Given the description of an element on the screen output the (x, y) to click on. 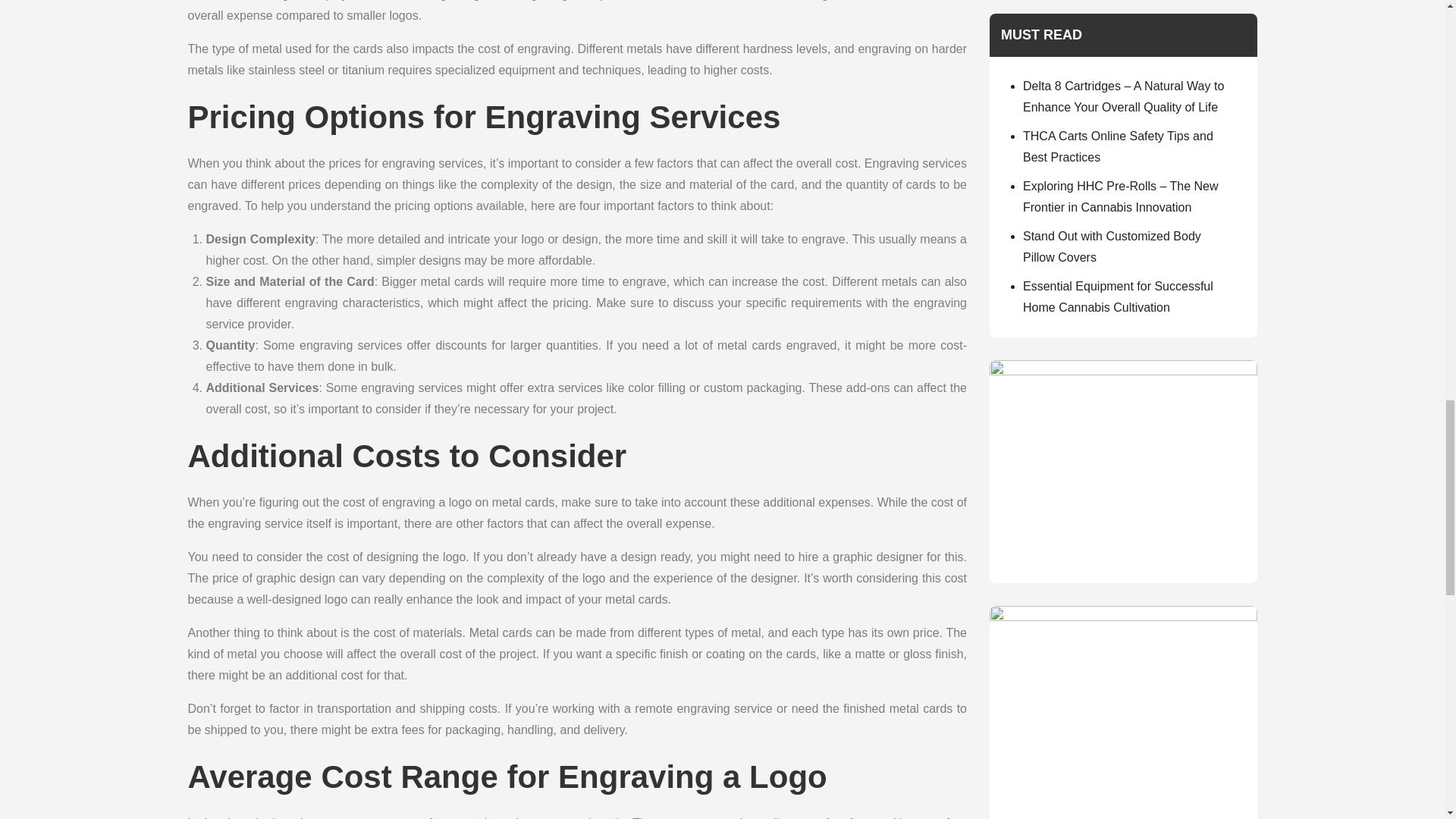
Stand Out with Customized Body Pillow Covers (1112, 246)
THCA Carts Online Safety Tips and Best Practices (1117, 146)
Essential Equipment for Successful Home Cannabis Cultivation (1117, 296)
